Given the description of an element on the screen output the (x, y) to click on. 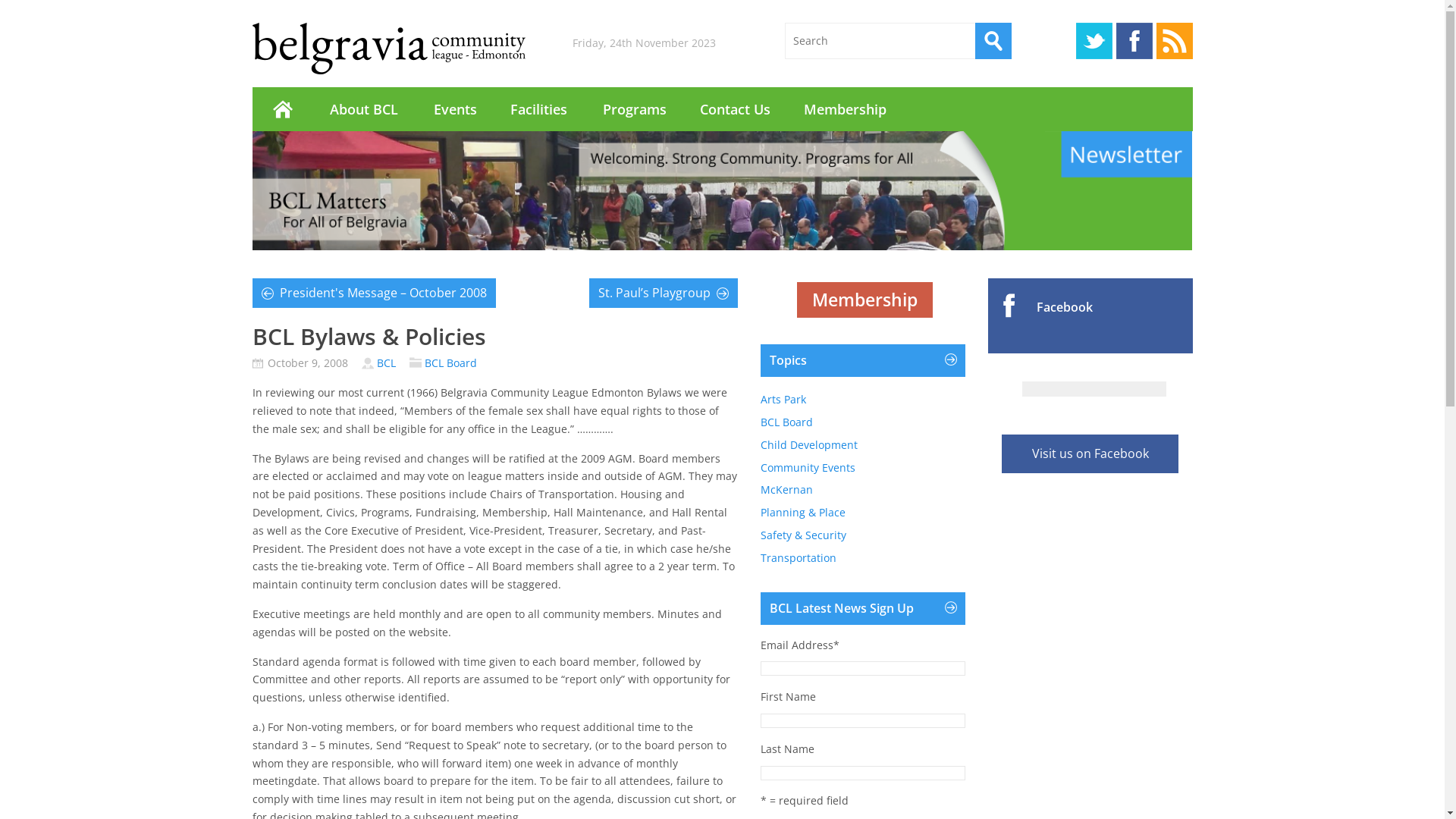
Facilities Element type: text (538, 109)
McKernan Element type: text (785, 489)
Community Events Element type: text (806, 467)
BCL Element type: text (385, 362)
Transportation Element type: text (797, 557)
Programs Element type: text (633, 109)
Planning & Place Element type: text (801, 512)
BCL Board Element type: text (450, 362)
Twitter Element type: text (1093, 40)
Belgravia Community League Element type: hover (387, 48)
Safety & Security Element type: text (802, 534)
BCL Board Element type: text (785, 421)
Home Element type: text (281, 109)
Membership Element type: text (845, 109)
Search Element type: text (993, 40)
Arts Park Element type: text (782, 399)
Events Element type: text (455, 109)
Visit us on Facebook Element type: text (1089, 453)
RSS Element type: text (1173, 40)
Membership Element type: text (864, 299)
Child Development Element type: text (807, 444)
About BCL Element type: text (364, 109)
Facebook Element type: text (1134, 40)
Contact Us Element type: text (734, 109)
